Given the description of an element on the screen output the (x, y) to click on. 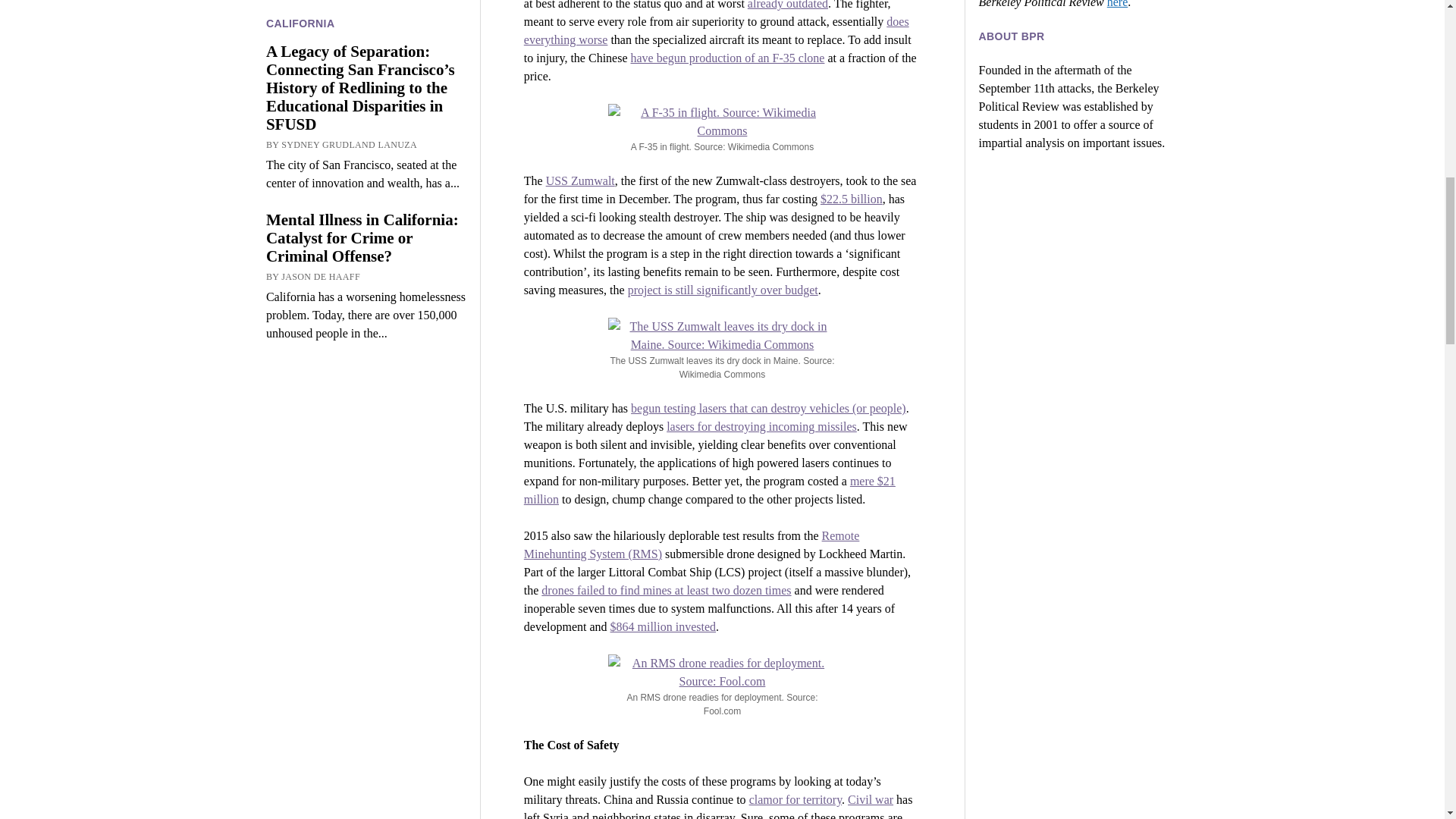
does everything worse (716, 30)
project is still significantly over budget (722, 289)
already outdated (788, 4)
have begun production of an F-35 clone (727, 57)
USS Zumwalt (580, 180)
